Given the description of an element on the screen output the (x, y) to click on. 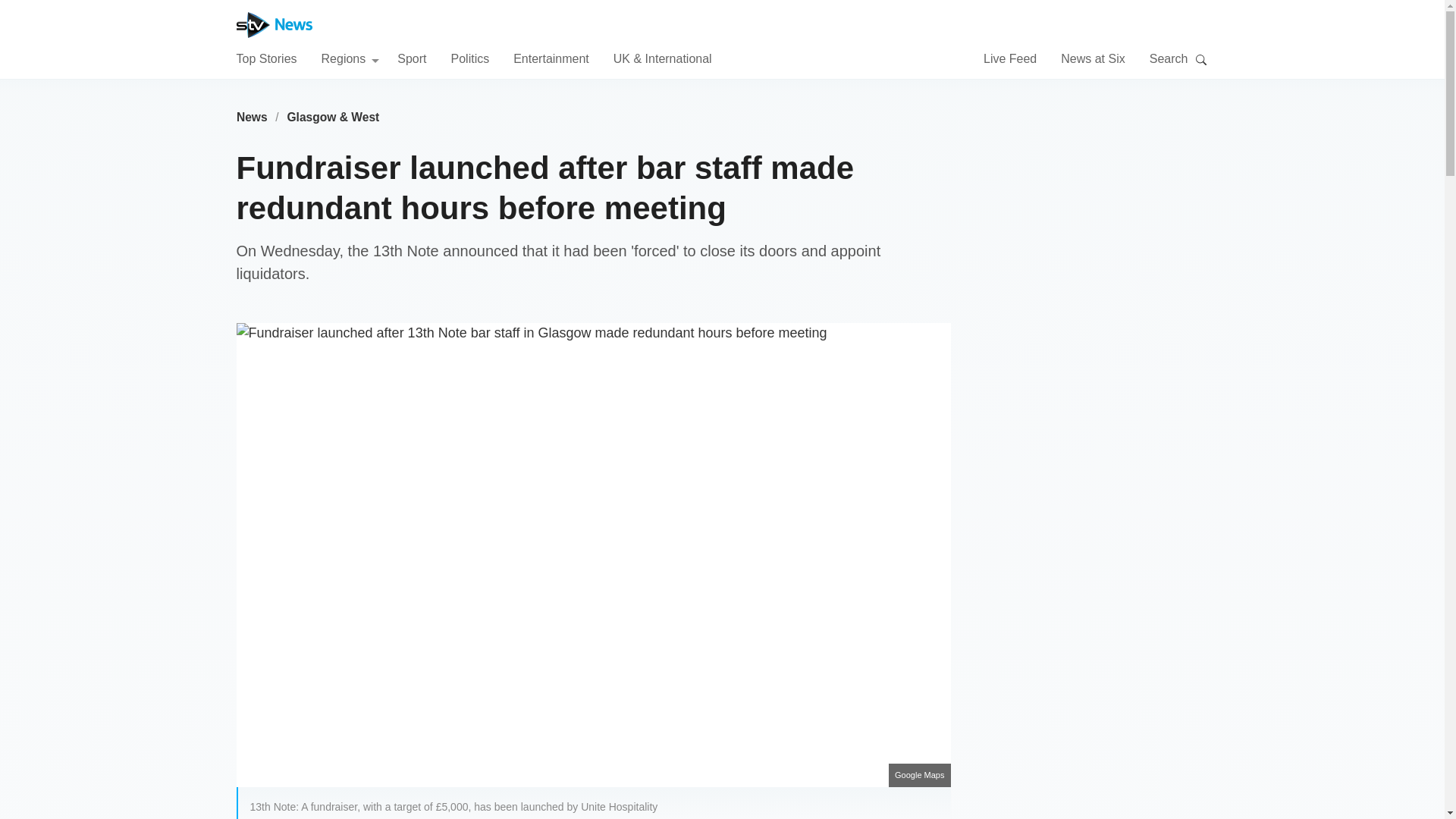
News at Six (1092, 57)
Live Feed (1010, 57)
Entertainment (551, 57)
Search (1201, 59)
Regions (350, 57)
Top Stories (266, 57)
Politics (469, 57)
News (252, 116)
